Given the description of an element on the screen output the (x, y) to click on. 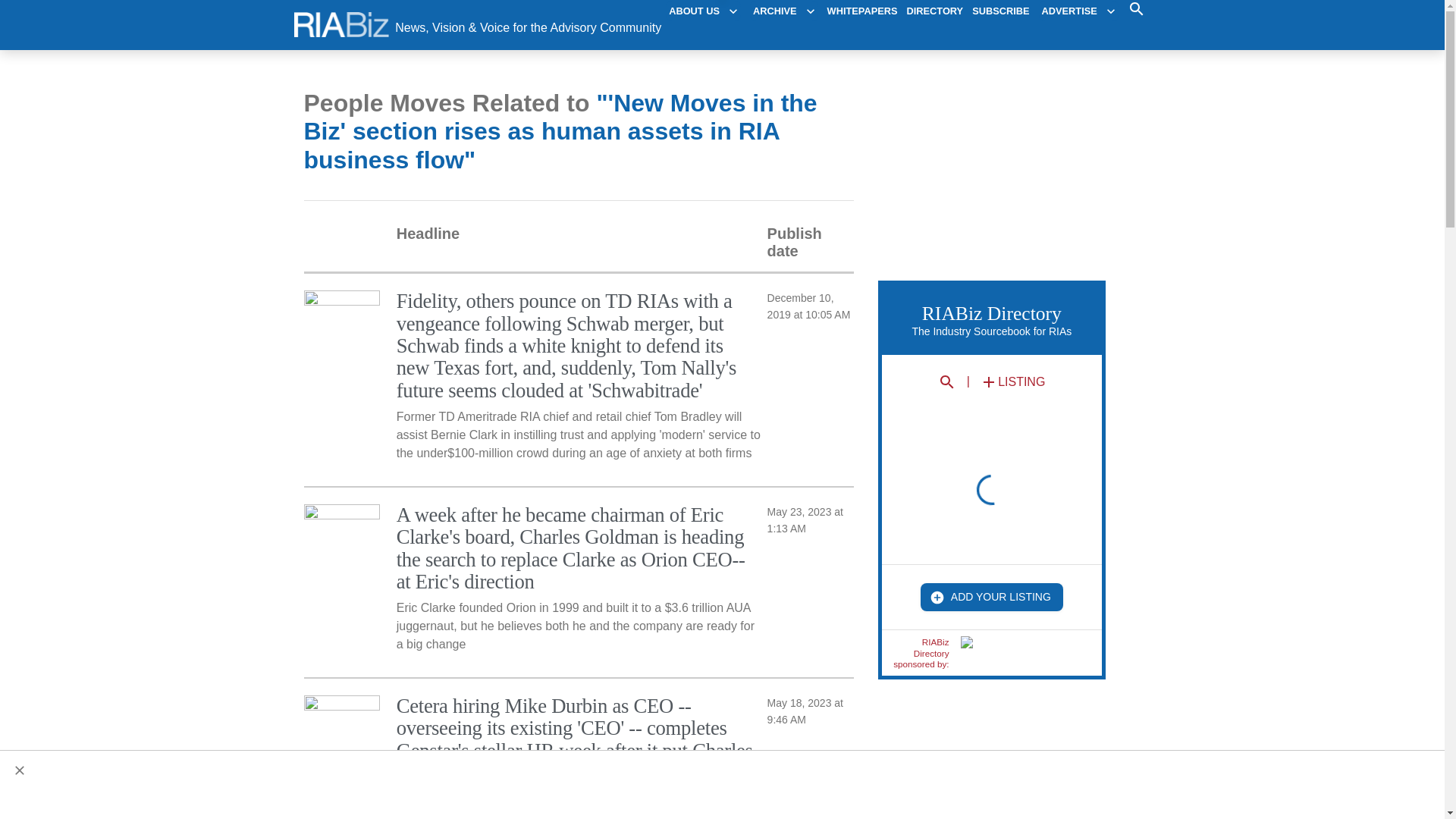
SUBSCRIBE (1000, 10)
DIRECTORY (935, 10)
ADD YOUR LISTING (991, 596)
WHITEPAPERS (862, 10)
ARCHIVE (783, 10)
LISTING (1012, 382)
ABOUT US (703, 10)
ADVERTISE (1078, 10)
